Given the description of an element on the screen output the (x, y) to click on. 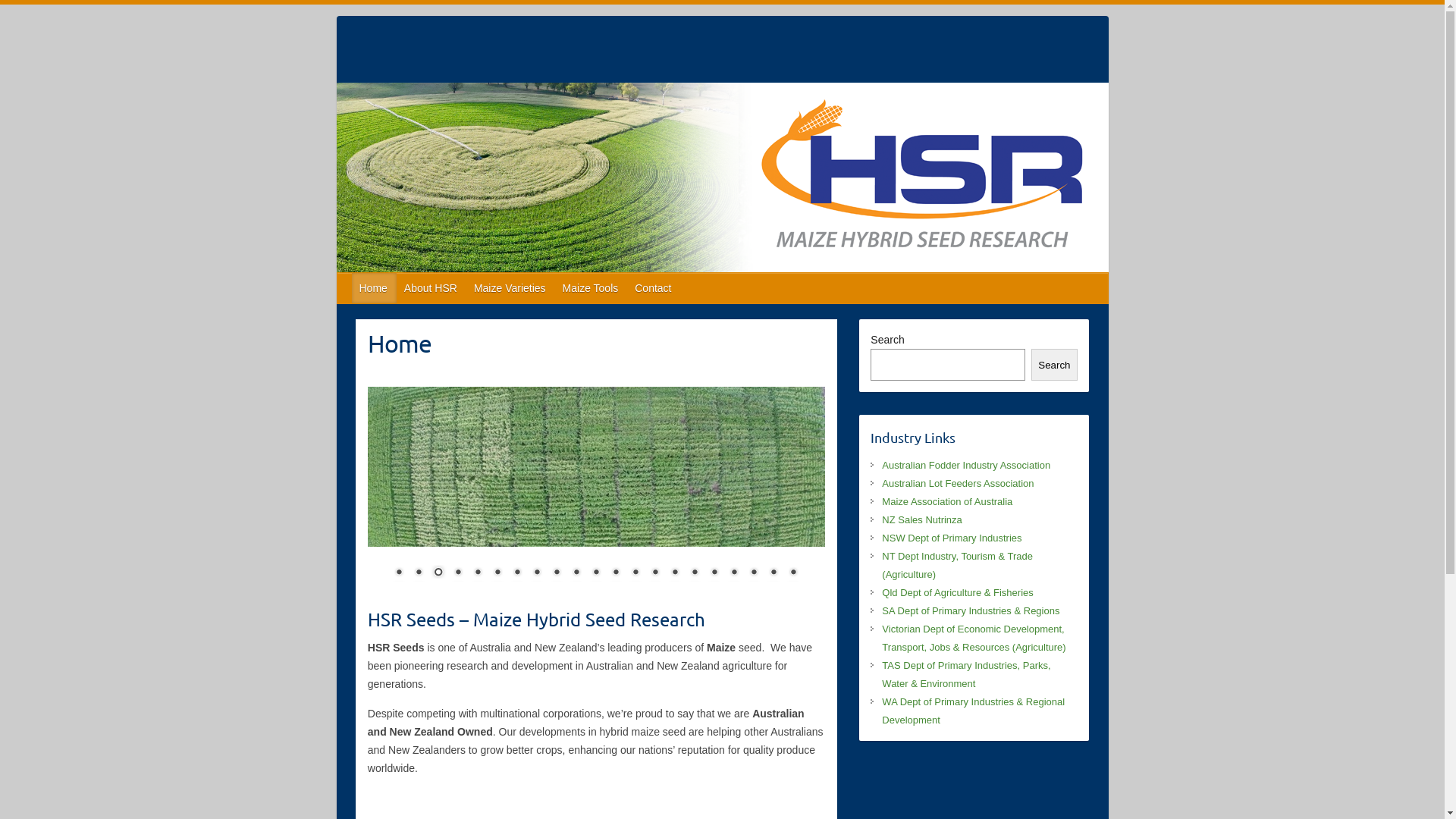
12 Element type: text (615, 572)
3 Element type: text (437, 572)
2 Element type: text (418, 572)
About HSR Element type: text (431, 288)
SA Dept of Primary Industries & Regions Element type: text (970, 610)
Australian Fodder Industry Association Element type: text (965, 464)
NT Dept Industry, Tourism & Trade (Agriculture) Element type: text (956, 565)
13 Element type: text (635, 572)
Australian Lot Feeders Association Element type: text (957, 483)
Home Element type: text (373, 288)
Qld Dept of Agriculture & Fisheries Element type: text (956, 592)
Contact Element type: text (653, 288)
NSW Dept of Primary Industries Element type: text (951, 537)
7 Element type: text (516, 572)
NZ Sales Nutrinza Element type: text (921, 519)
17 Element type: text (714, 572)
9 Element type: text (556, 572)
19 Element type: text (753, 572)
Maize Association of Australia Element type: text (946, 501)
5 Element type: text (477, 572)
18 Element type: text (733, 572)
20 Element type: text (773, 572)
21 Element type: text (792, 572)
Maize Varieties Element type: text (510, 288)
10 Element type: text (575, 572)
Search Element type: text (1054, 364)
Maize Tools Element type: text (591, 288)
8 Element type: text (536, 572)
TAS Dept of Primary Industries, Parks, Water & Environment Element type: text (965, 674)
16 Element type: text (694, 572)
14 Element type: text (654, 572)
6 Element type: text (497, 572)
15 Element type: text (674, 572)
11 Element type: text (595, 572)
4 Element type: text (457, 572)
WA Dept of Primary Industries & Regional Development Element type: text (972, 710)
1 Element type: text (398, 572)
